Given the description of an element on the screen output the (x, y) to click on. 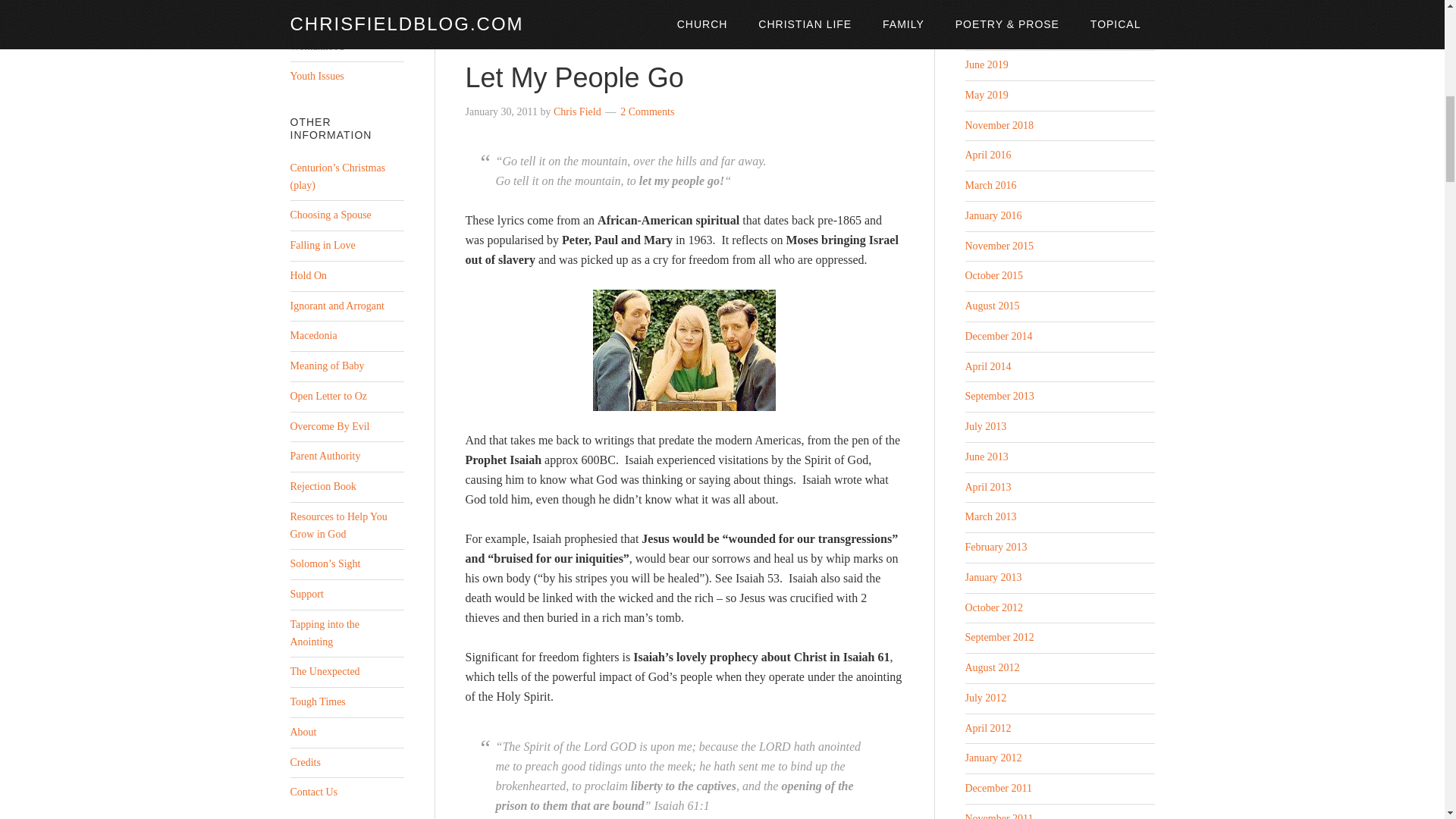
Posts which are basically topical. (305, 16)
stand (855, 6)
Let My People Go (574, 77)
bank fraud (676, 6)
audio recording of chris field (587, 6)
Peter-Paul-and-Mary (684, 350)
2 Comments (647, 111)
Chris Field (577, 111)
grace of god (756, 6)
faith (714, 6)
